Given the description of an element on the screen output the (x, y) to click on. 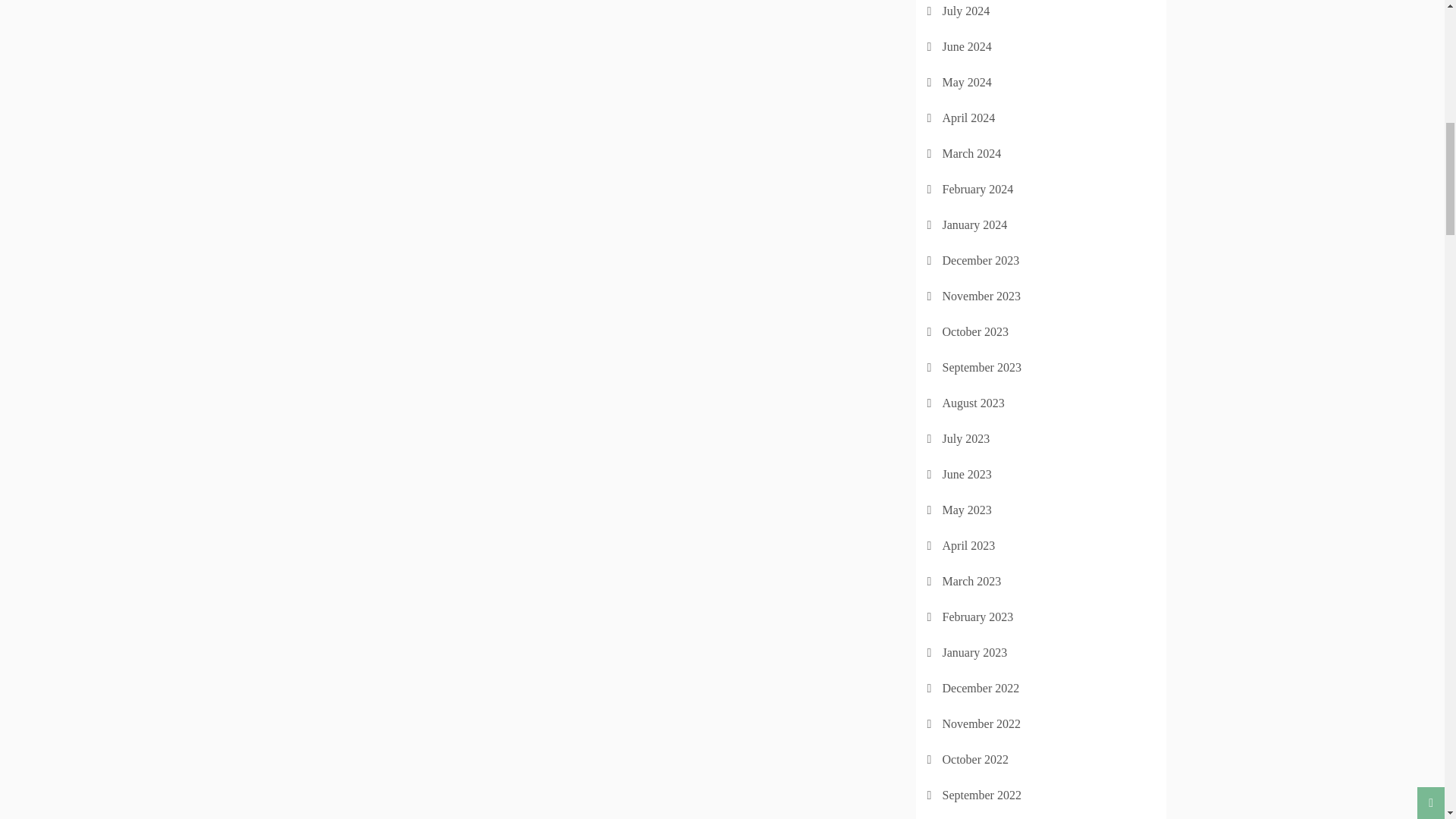
June 2024 (966, 46)
May 2024 (966, 82)
July 2024 (966, 10)
